Given the description of an element on the screen output the (x, y) to click on. 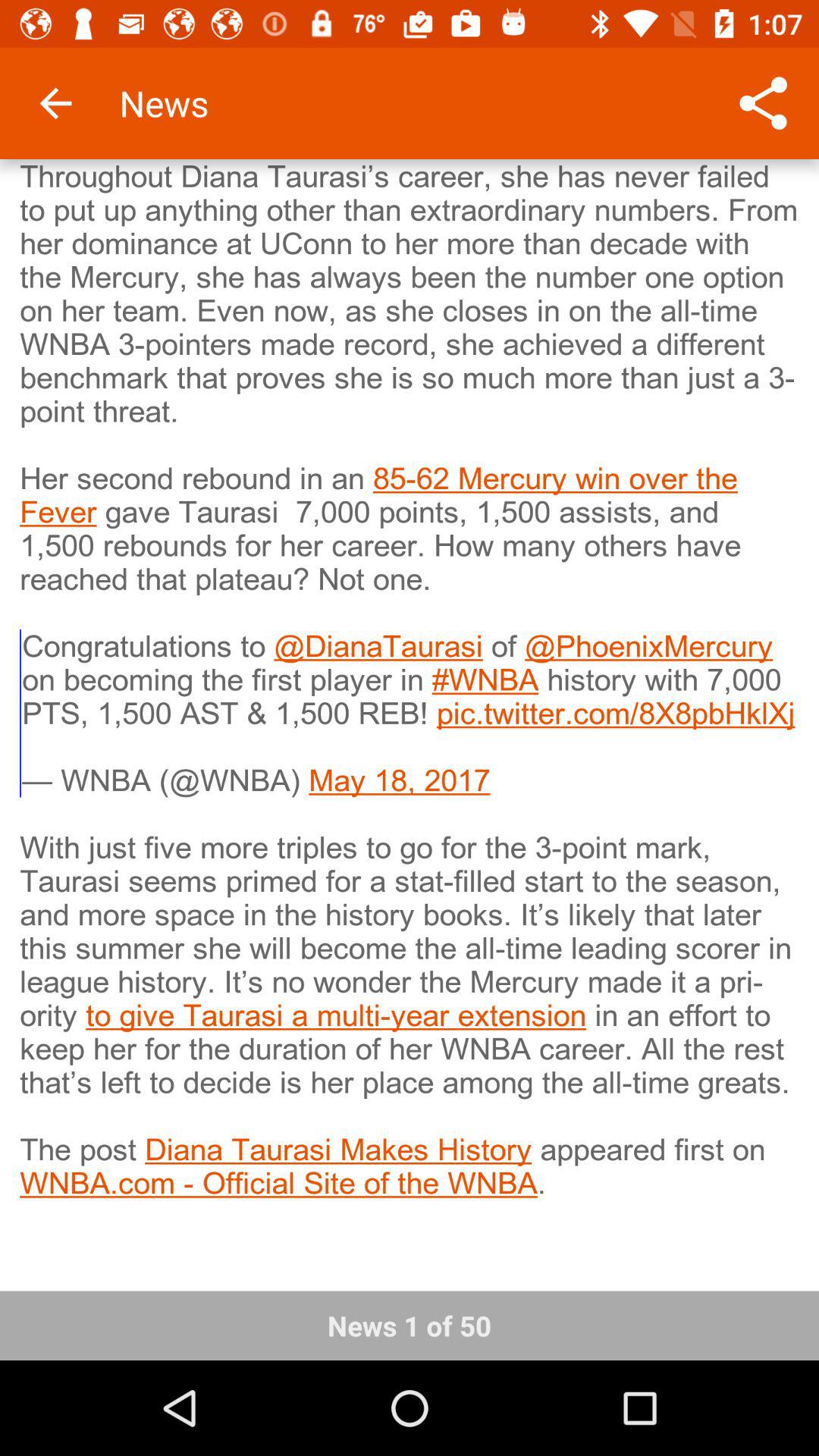
press item at the center (409, 715)
